Given the description of an element on the screen output the (x, y) to click on. 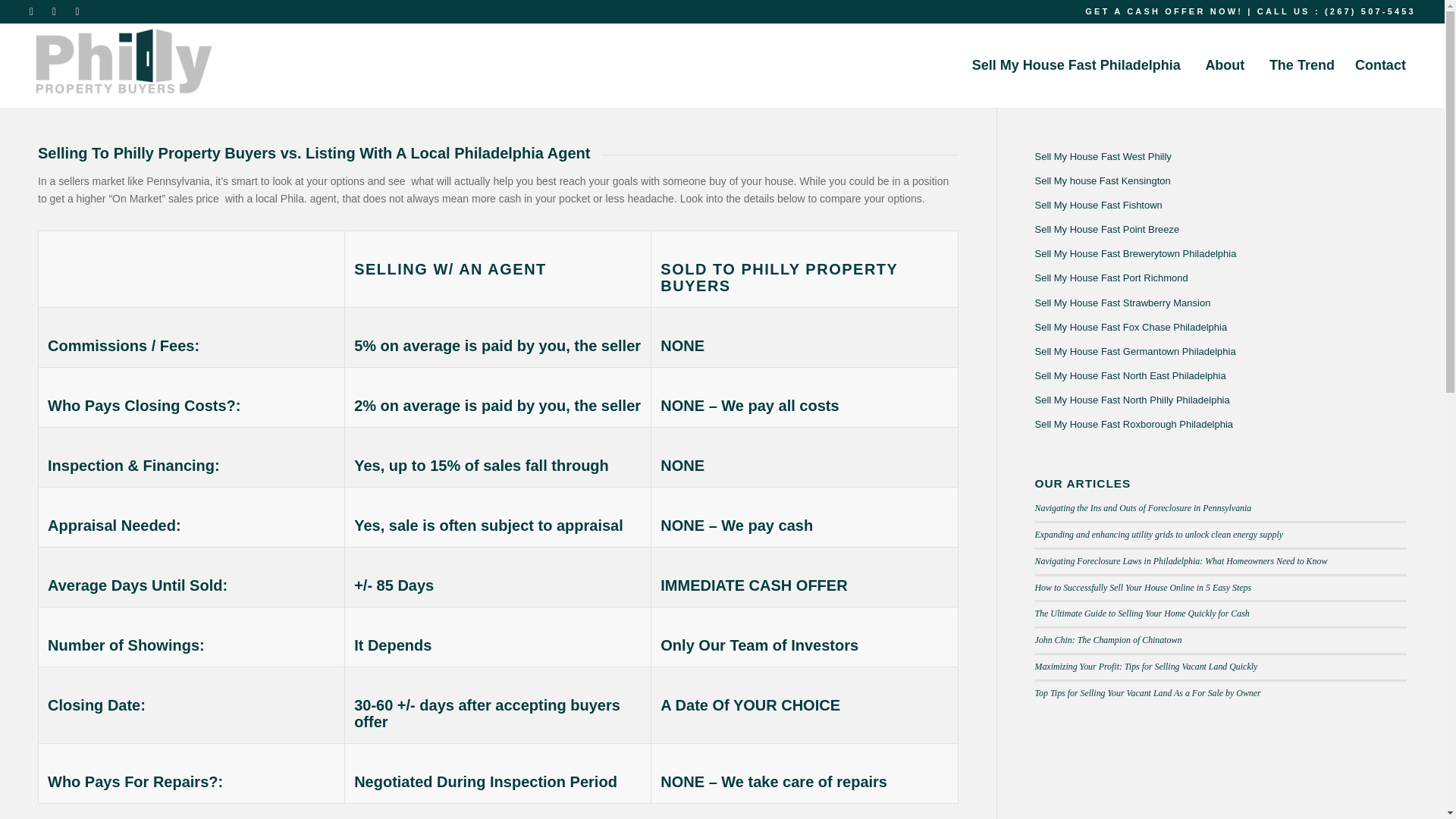
GET A CASH OFFER NOW! (1163, 10)
Facebook (55, 11)
Sell My House Fast Strawberry Mansion (1219, 303)
Sell My House Fast North East Philadelphia (1219, 375)
Sell My House Fast North Philly Philadelphia (1219, 400)
Facebook (1372, 797)
Sell My House Fast Brewerytown Philadelphia (1219, 253)
Instagram (78, 11)
Houses For Rent Philadelphia (825, 578)
Sell My House Fast Philadelphia (1075, 65)
Sell My House Fast Port Richmond (1219, 278)
